Given the description of an element on the screen output the (x, y) to click on. 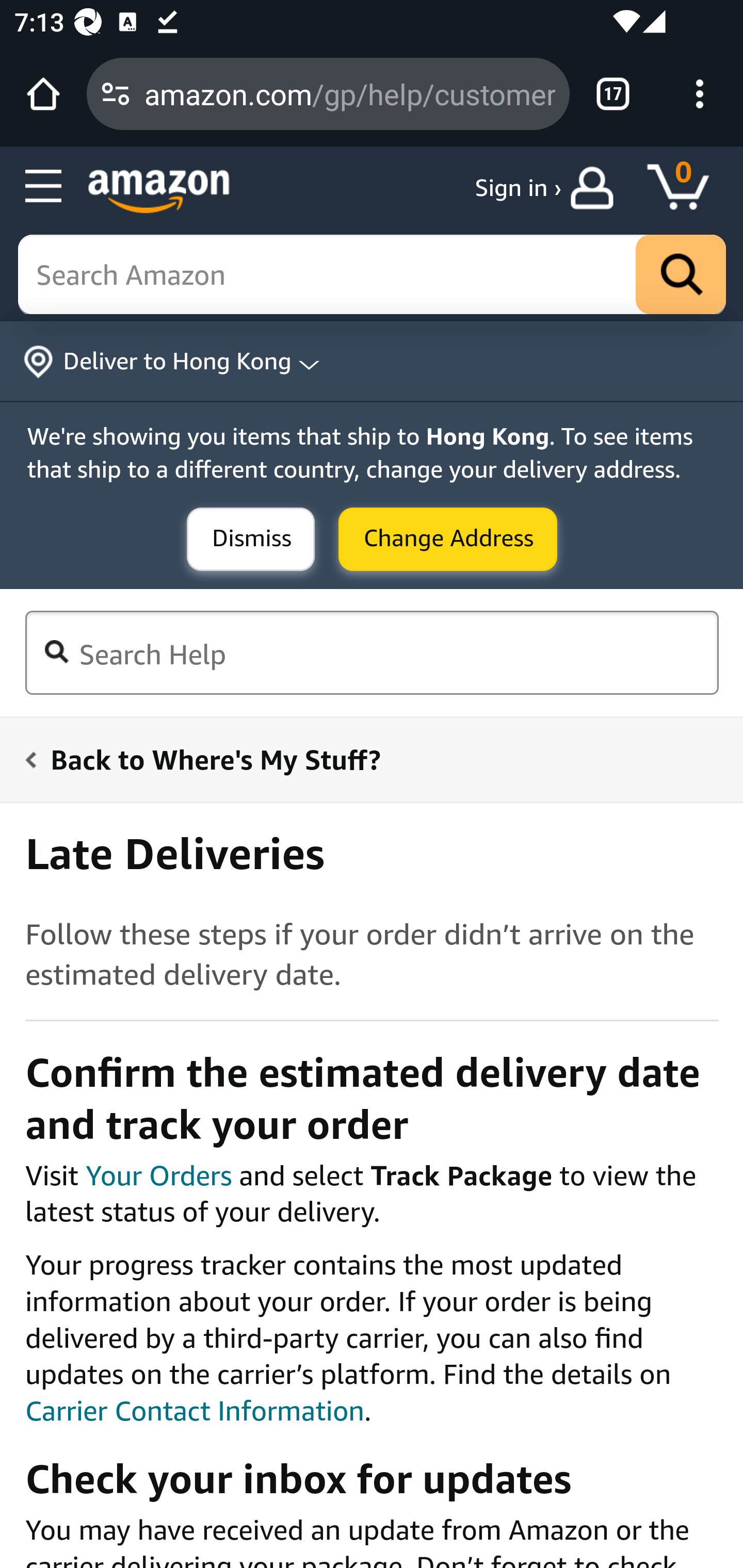
Open the home page (43, 93)
Connection is secure (115, 93)
Switch or close tabs (612, 93)
Customize and control Google Chrome (699, 93)
Open Menu (44, 187)
Sign in › (518, 188)
your account (596, 188)
Cart 0 (687, 188)
Amazon (158, 191)
Go (681, 275)
Submit (250, 539)
Submit (447, 539)
Back to Where's My Stuff? (359, 758)
Your Orders (158, 1174)
Carrier Contact Information (195, 1410)
